Given the description of an element on the screen output the (x, y) to click on. 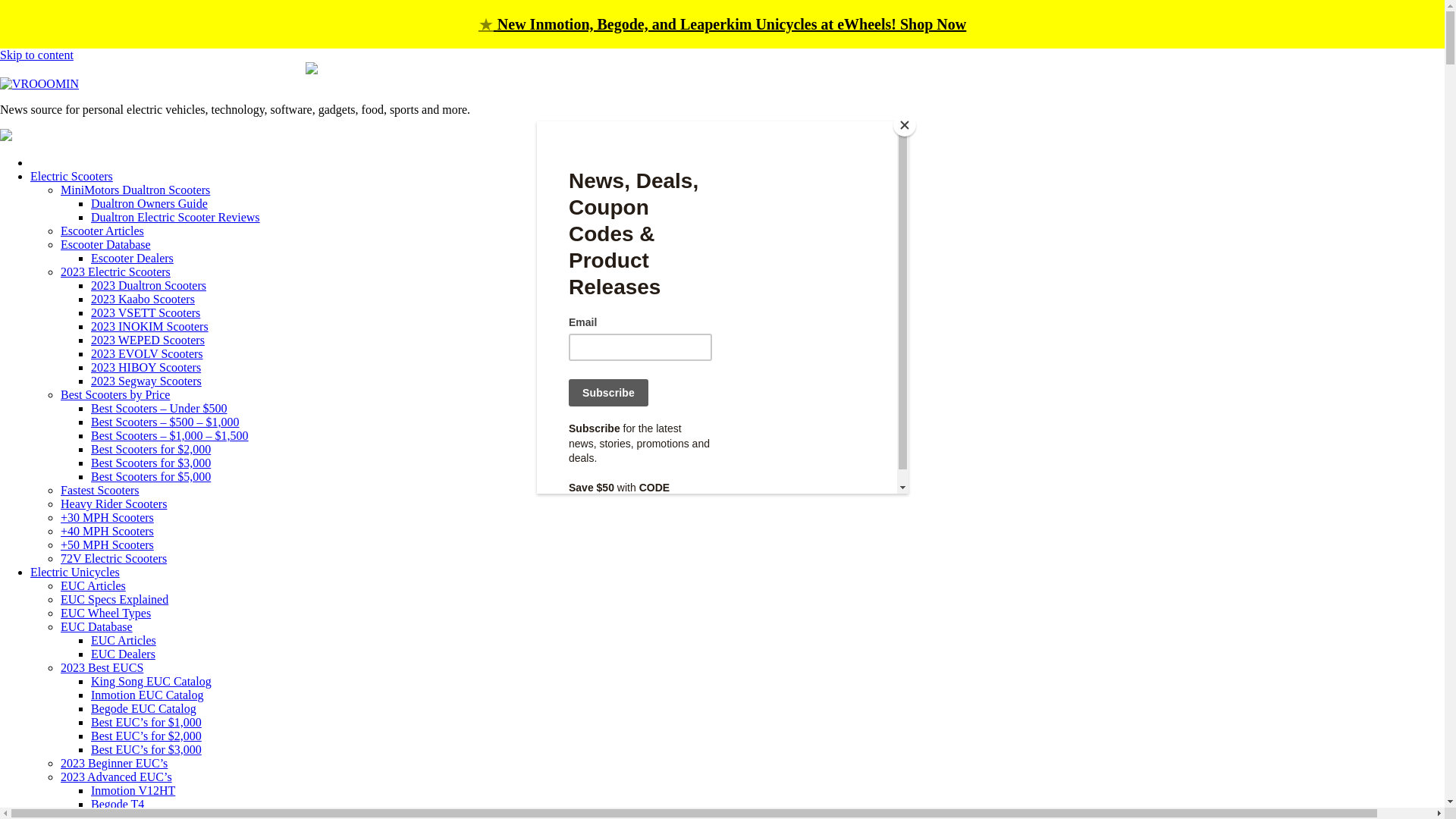
Electric Unicycles (74, 571)
Escooter Articles (102, 230)
2023 Segway Scooters (146, 380)
Fastest Scooters (100, 490)
EUC Articles (93, 585)
2023 HIBOY Scooters (145, 367)
2023 Kaabo Scooters (142, 298)
2023 Electric Scooters (115, 271)
Electric Scooters (71, 175)
Dualtron Owners Guide (149, 203)
Skip to content (37, 54)
EUC Specs Explained (114, 599)
2023 VSETT Scooters (145, 312)
Escooter Dealers (131, 257)
2023 EVOLV Scooters (146, 353)
